Given the description of an element on the screen output the (x, y) to click on. 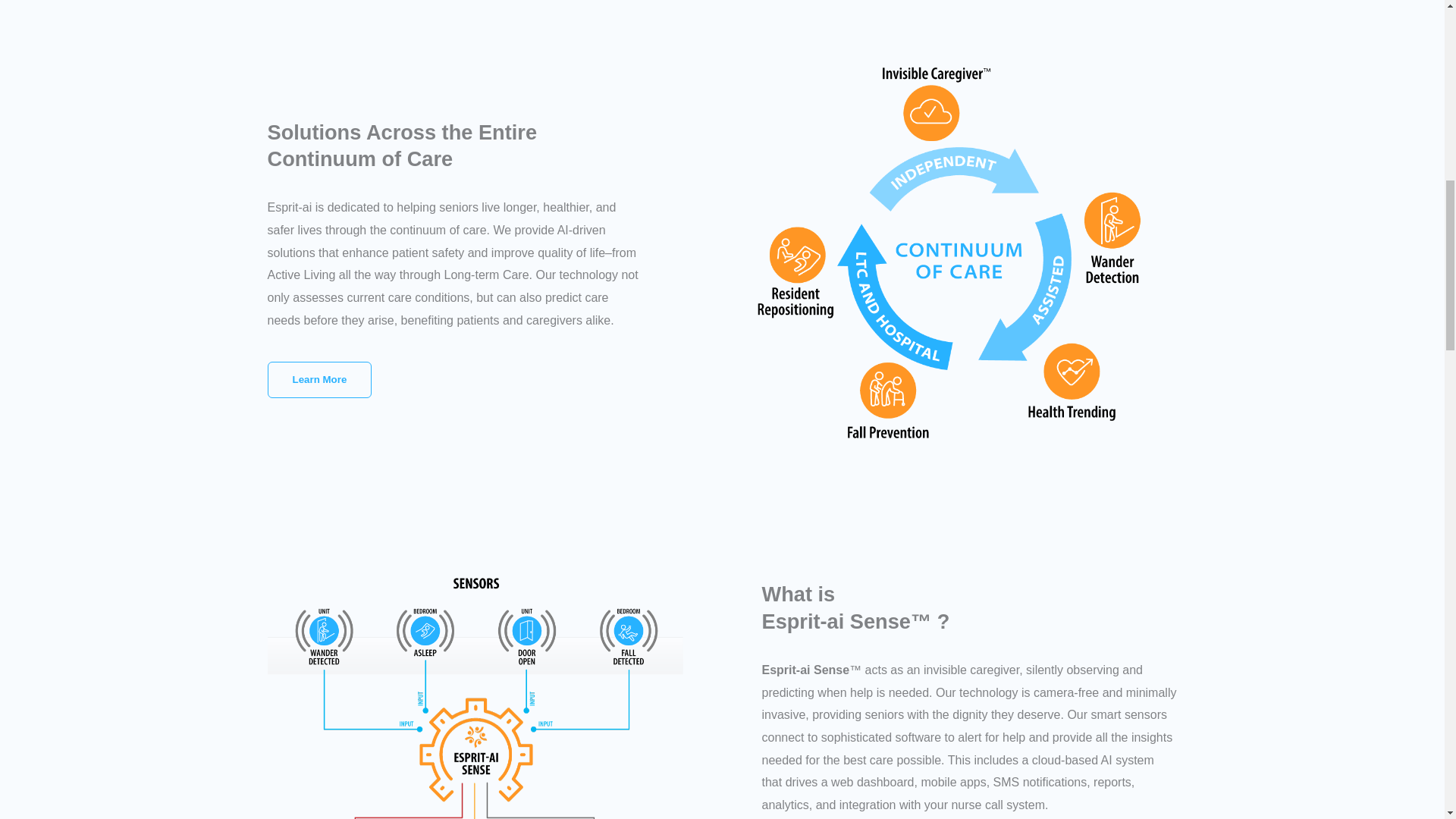
Learn More (318, 379)
esprit-ai-process-full-1000 (474, 694)
